Given the description of an element on the screen output the (x, y) to click on. 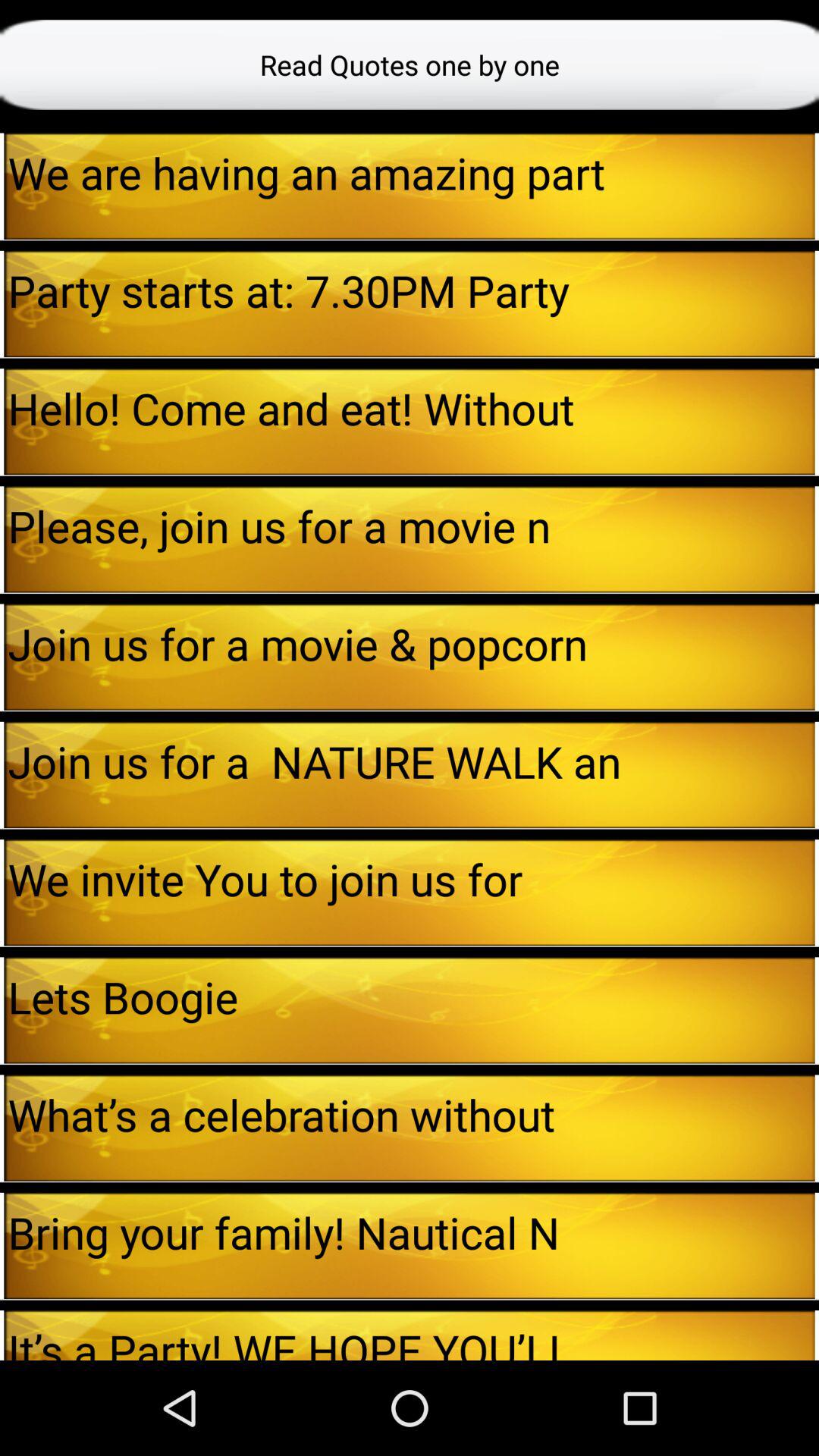
select icon next to party starts at item (817, 303)
